Given the description of an element on the screen output the (x, y) to click on. 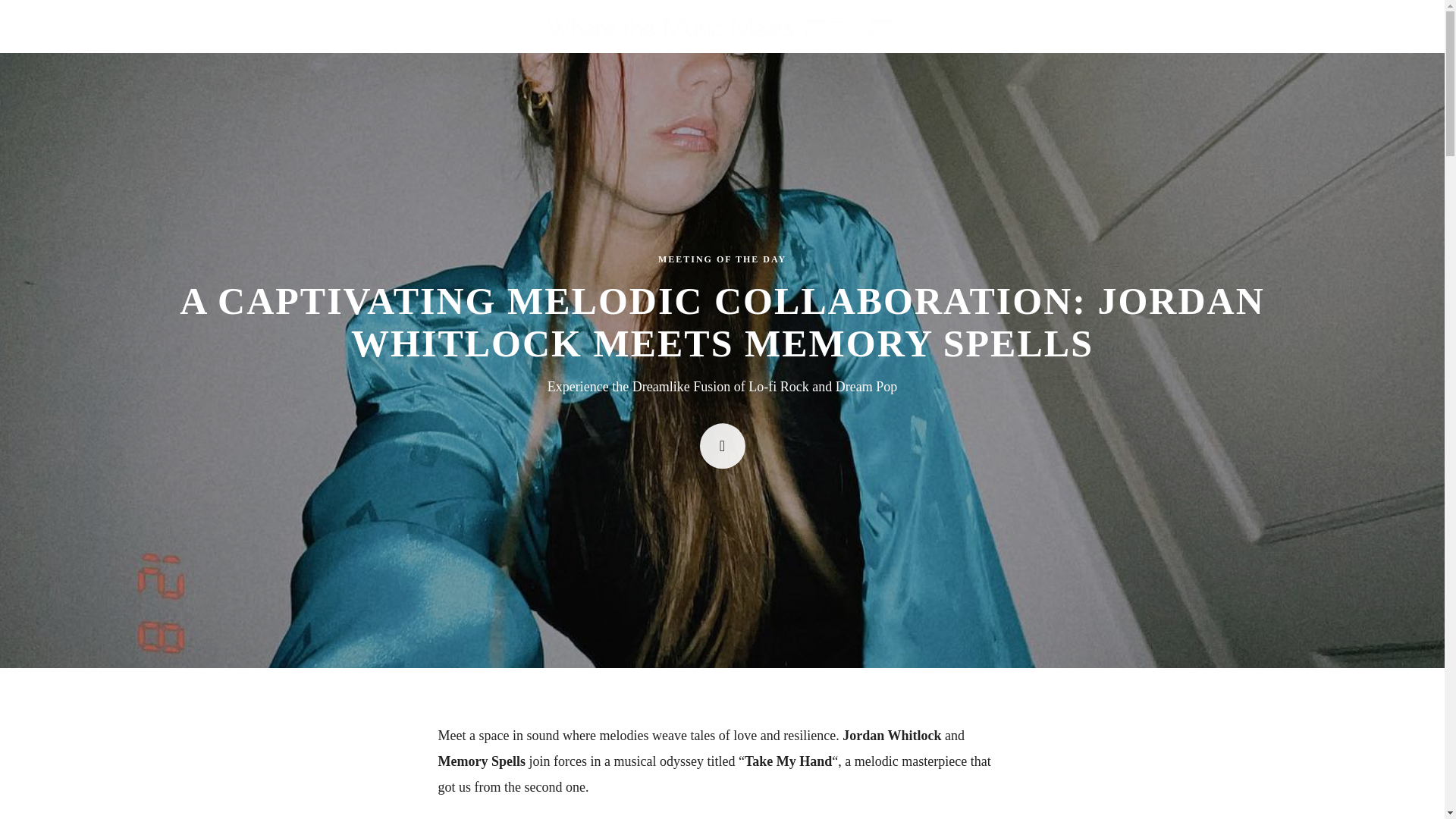
MEETING OF THE DAY (722, 259)
View all posts in meeting-of-the-day (722, 259)
